Given the description of an element on the screen output the (x, y) to click on. 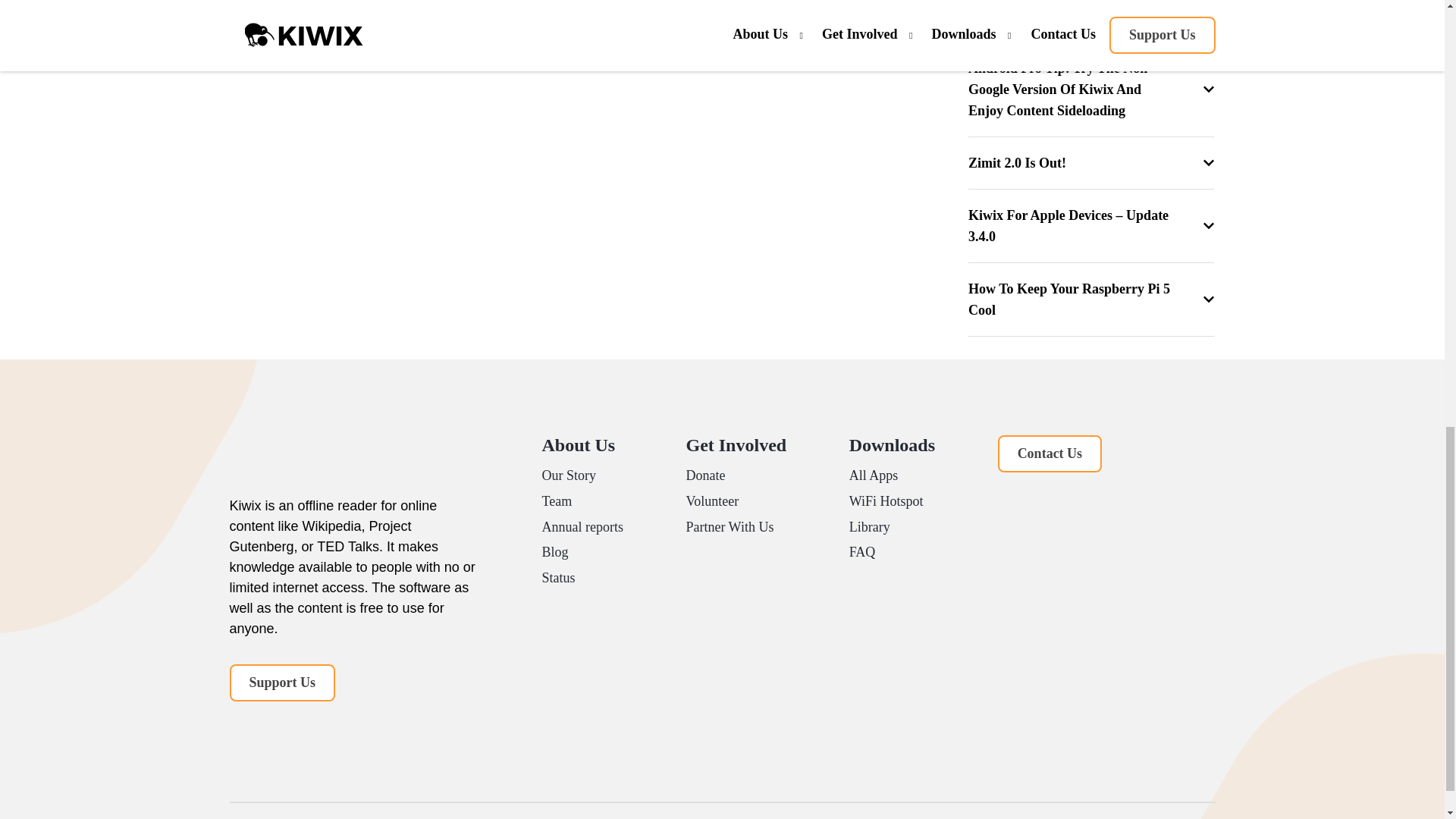
Support Us (281, 682)
Kiwix (342, 465)
Support Us (281, 682)
Twitter (239, 727)
Mastodon (301, 727)
LinkedIn (270, 727)
GitHub Arctic Code Vault (420, 201)
